Given the description of an element on the screen output the (x, y) to click on. 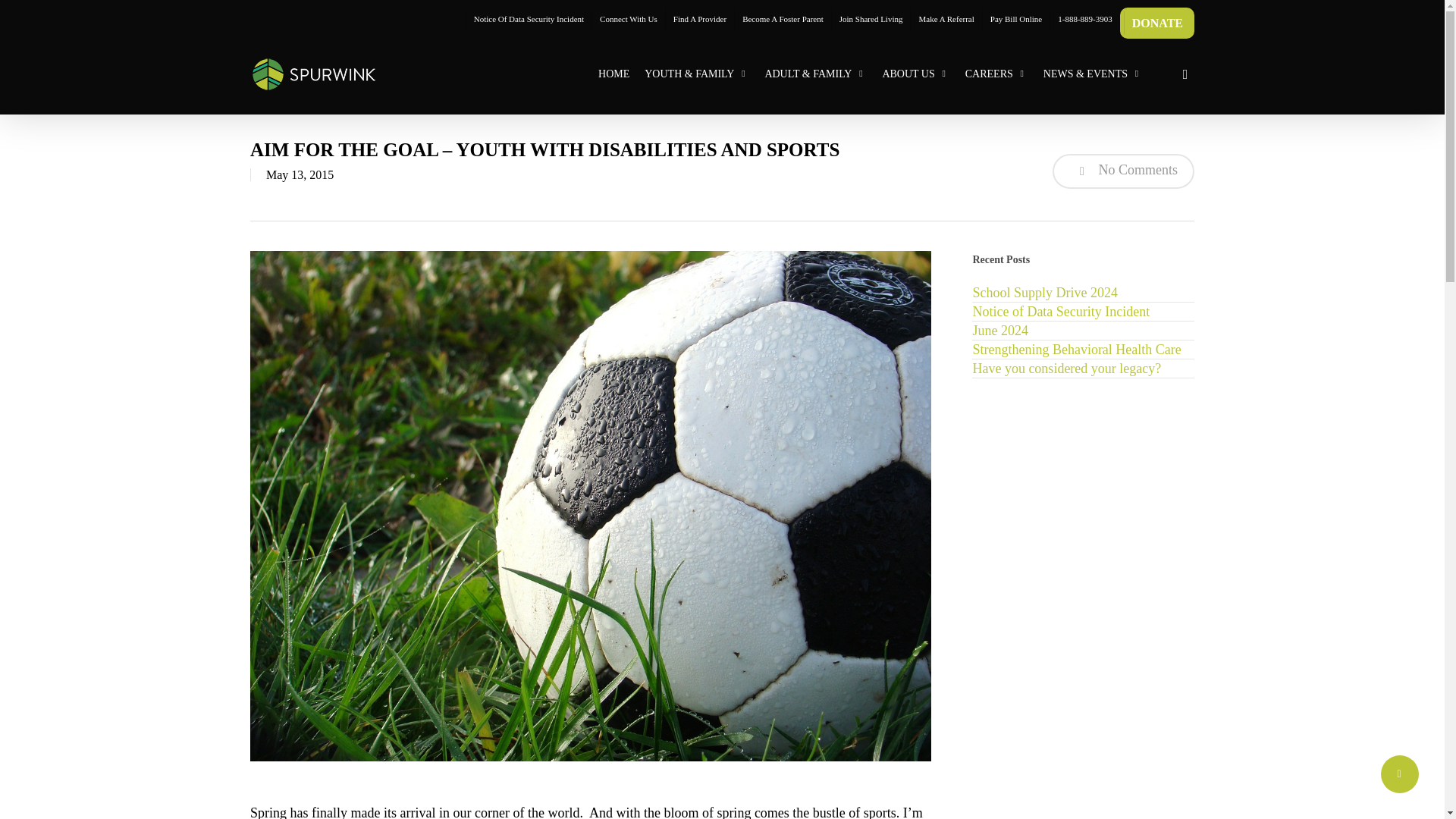
Become A Foster Parent (782, 19)
Find A Provider (699, 19)
Make A Referral (945, 19)
HOME (614, 73)
Notice Of Data Security Incident (528, 19)
Join Shared Living (871, 19)
ABOUT US (915, 73)
Connect With Us (628, 19)
DONATE (1157, 23)
1-888-889-3903 (1084, 19)
Pay Bill Online (1015, 19)
mobiletel (1084, 19)
